Given the description of an element on the screen output the (x, y) to click on. 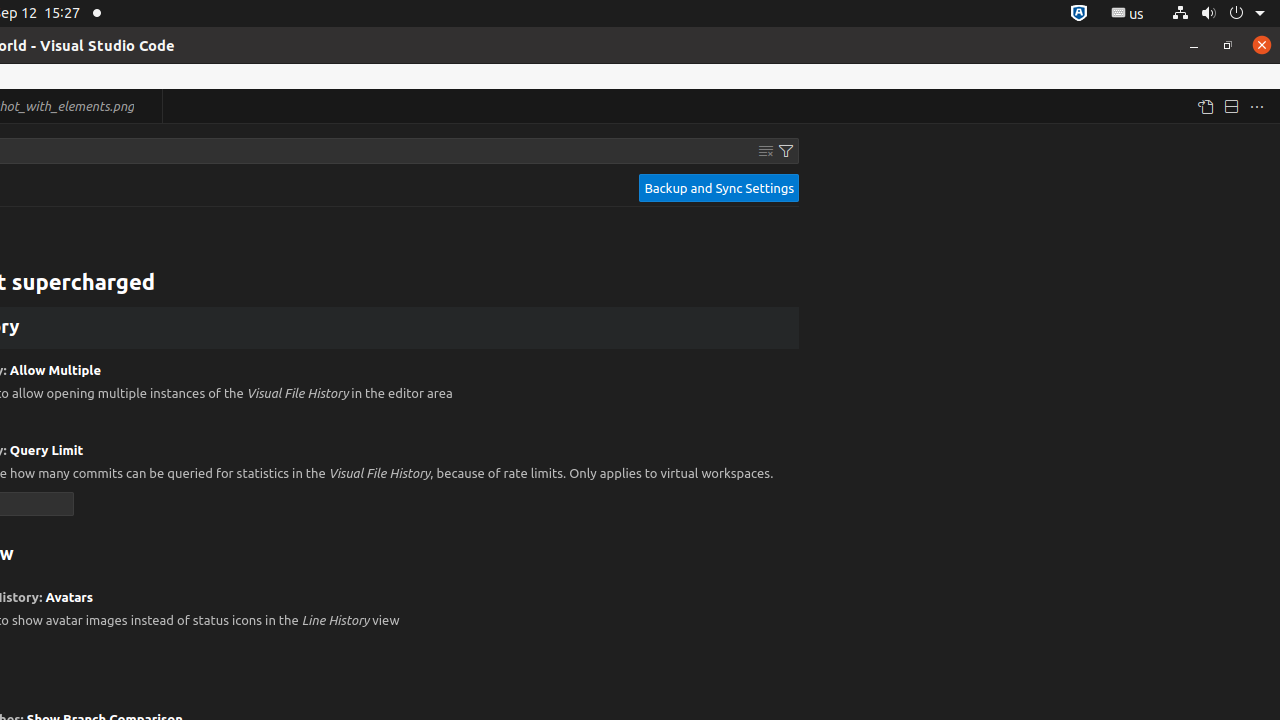
Close (Ctrl+W) Element type: push-button (148, 106)
Backup and Sync Settings Element type: push-button (719, 188)
Clear Settings Search Input Element type: push-button (766, 151)
